Given the description of an element on the screen output the (x, y) to click on. 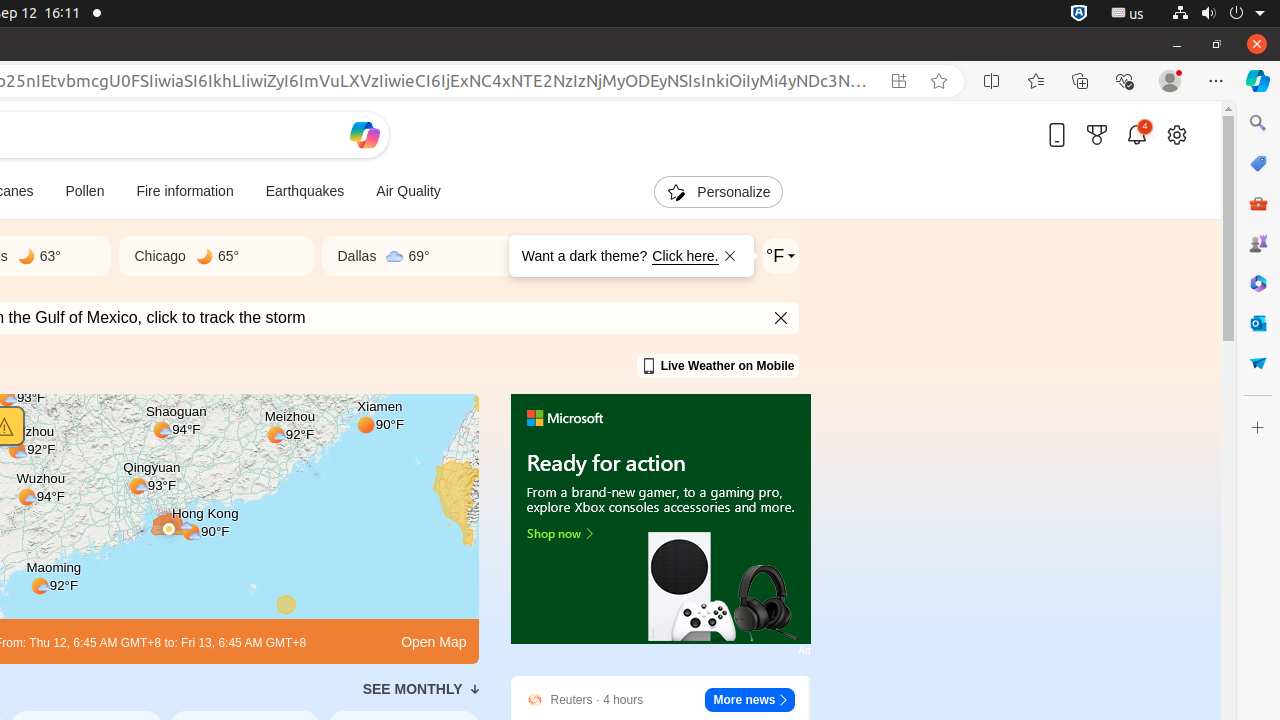
Click to open the link to download the Microsoft Start mobile app Element type: push-button (1057, 134)
Dallas Element type: push-button (357, 256)
Collections Element type: push-button (1080, 81)
System Element type: menu (1218, 13)
:1.72/StatusNotifierItem Element type: menu (1079, 13)
